Given the description of an element on the screen output the (x, y) to click on. 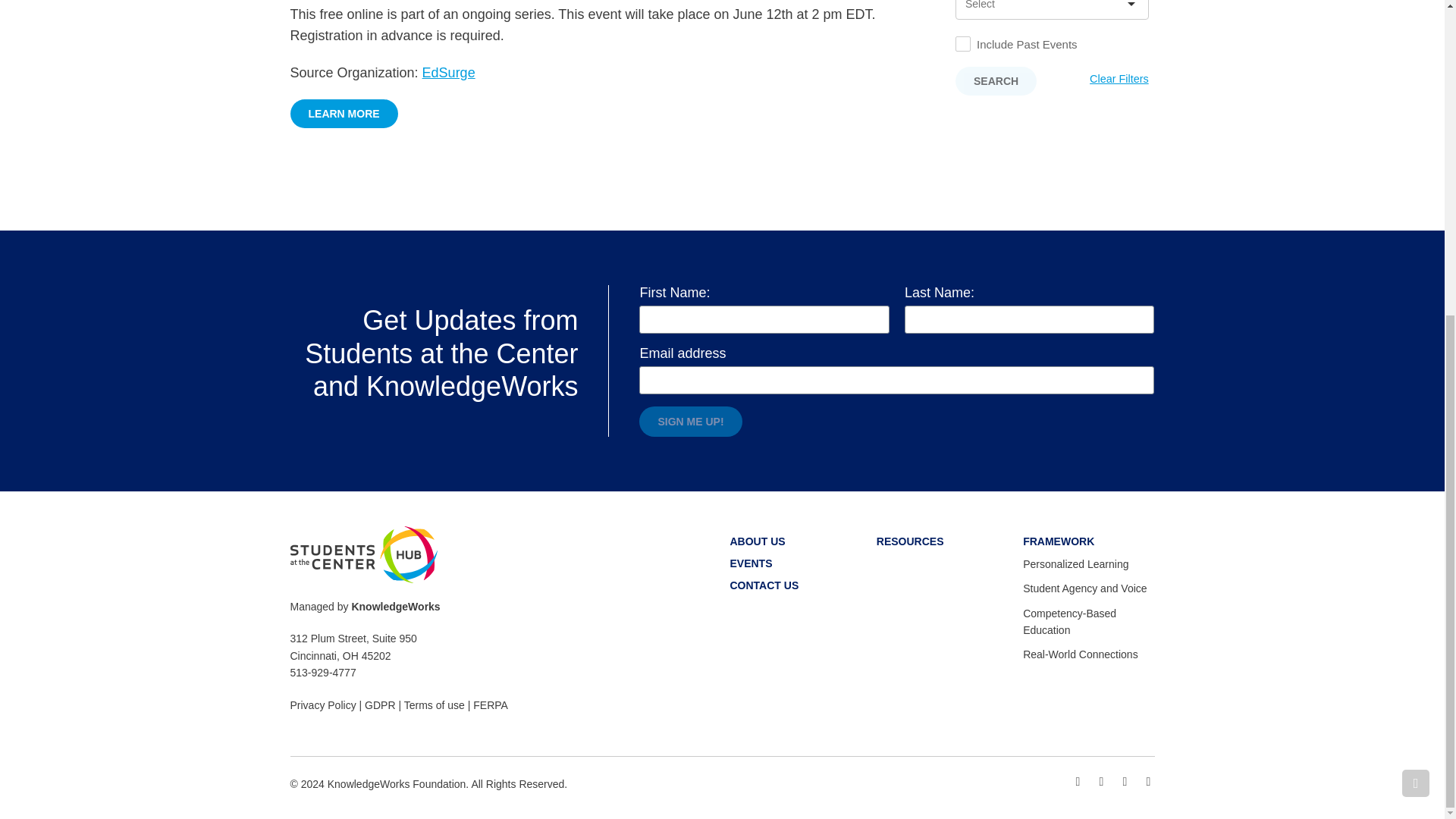
EdSurge (449, 72)
SIGN ME UP! (690, 421)
Clear Filters (1118, 78)
SEARCH (995, 80)
LEARN MORE (343, 113)
Why? So we can send you important insights and resources. (896, 379)
